Given the description of an element on the screen output the (x, y) to click on. 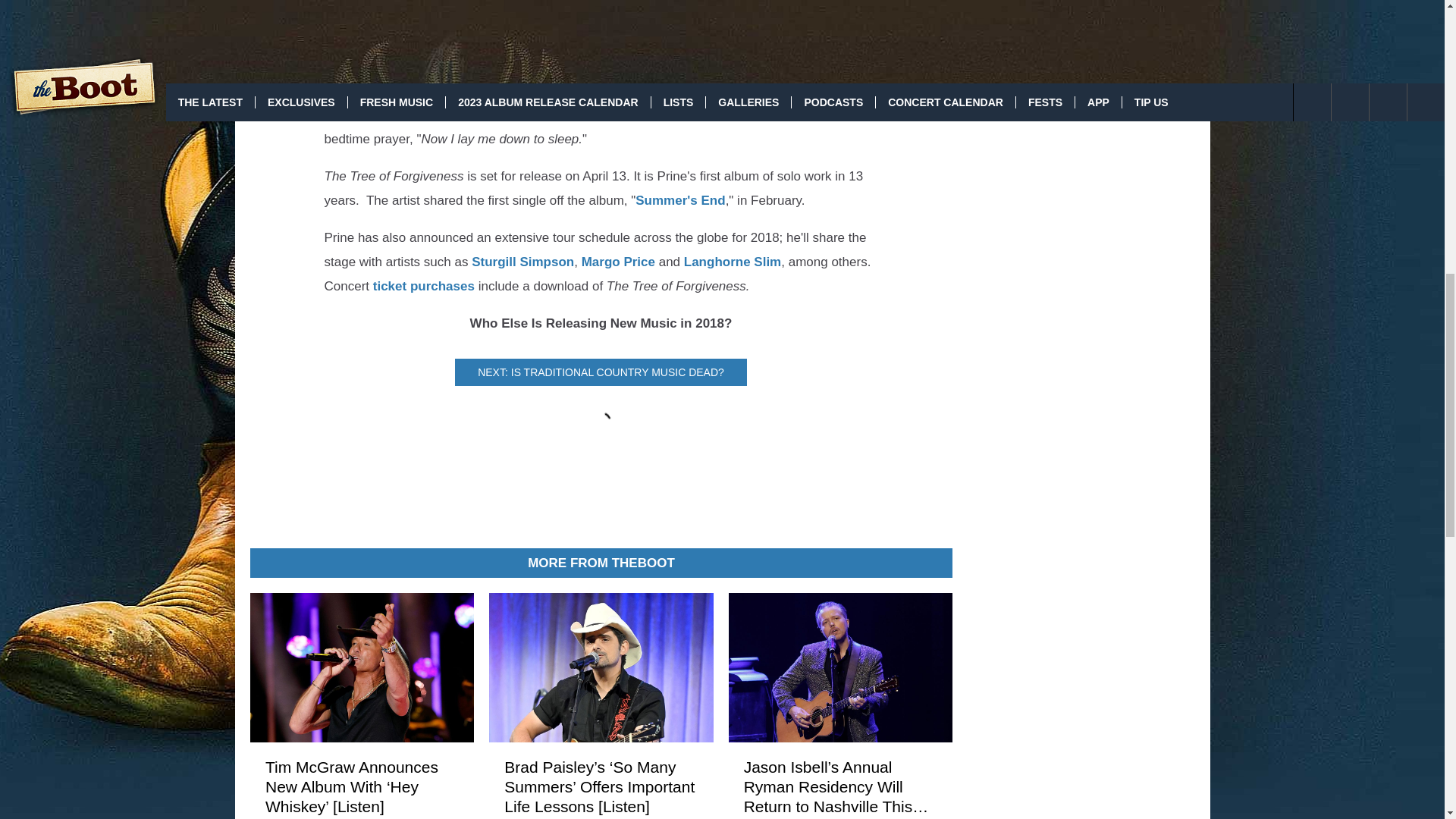
Langhorne Slim (732, 261)
Summer's End (679, 200)
NEXT: IS TRADITIONAL COUNTRY MUSIC DEAD? (600, 371)
Sturgill Simpson (522, 261)
Margo Price (617, 261)
ticket purchases (423, 286)
